Given the description of an element on the screen output the (x, y) to click on. 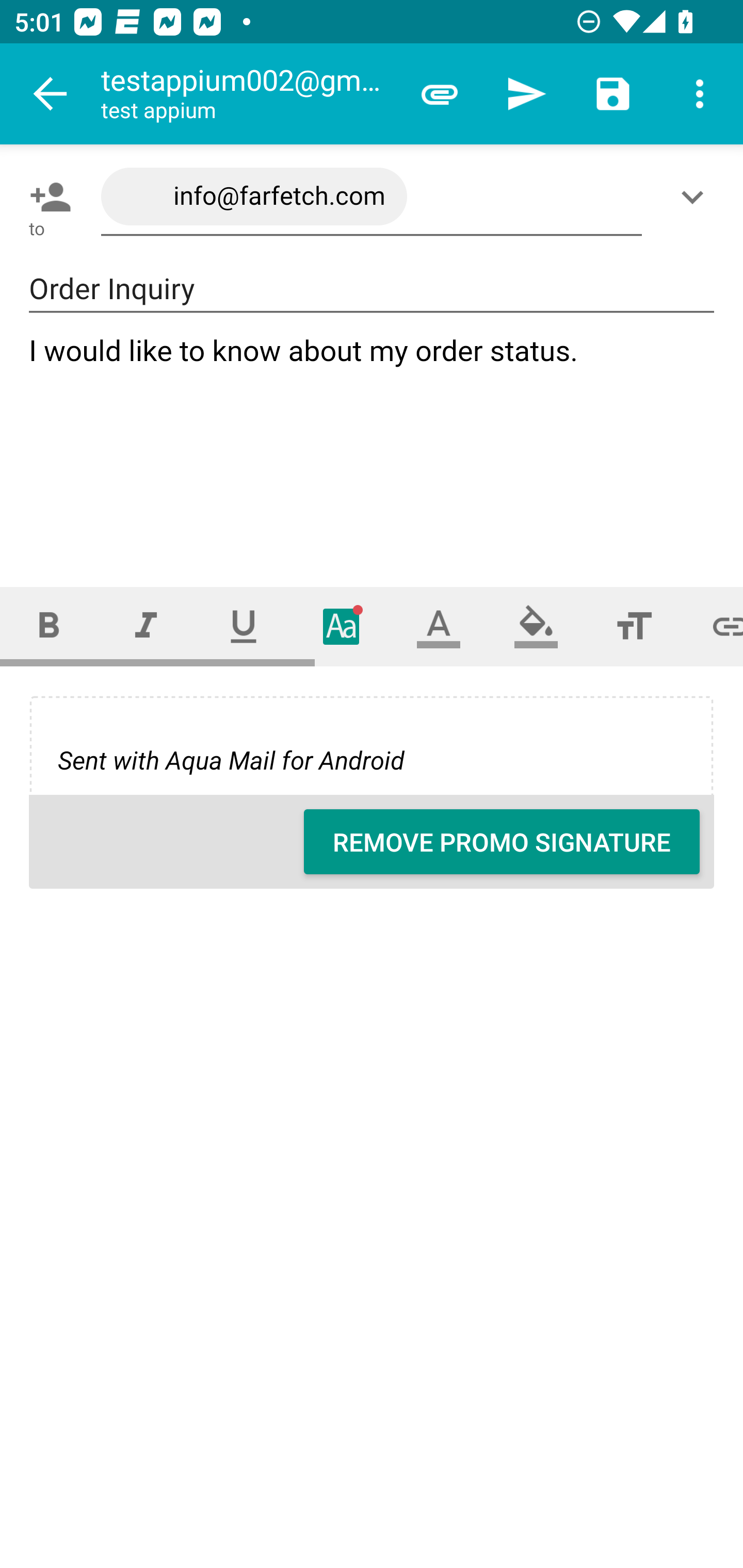
Navigate up (50, 93)
testappium002@gmail.com test appium (248, 93)
Attach (439, 93)
Send (525, 93)
Save (612, 93)
More options (699, 93)
info@farfetch.com,  (371, 197)
Pick contact: To (46, 196)
Show/Add CC/BCC (696, 196)
Order Inquiry (371, 288)
I would like to know about my order status. (372, 442)
Bold (48, 626)
Italic (145, 626)
Underline (243, 626)
Typeface (font) (341, 626)
Text color (438, 626)
Fill color (536, 626)
Font size (633, 626)
Set link (712, 626)
REMOVE PROMO SIGNATURE (501, 841)
